Given the description of an element on the screen output the (x, y) to click on. 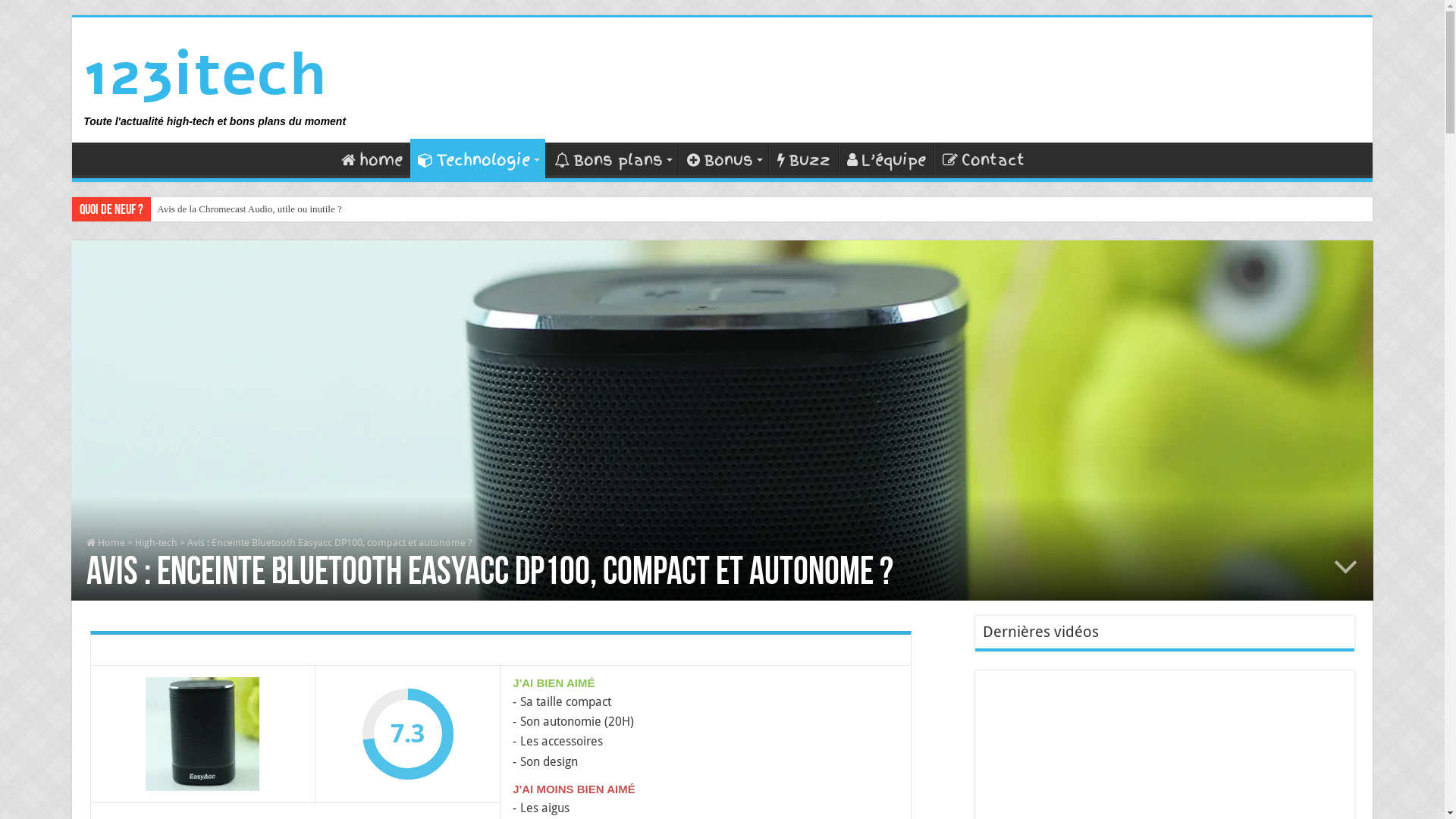
Buzz Element type: text (802, 158)
home Element type: text (371, 158)
Avis de la Chromecast Audio, utile ou inutile ? Element type: text (264, 209)
Technologie Element type: text (477, 158)
123itech Element type: text (204, 73)
Bonus Element type: text (723, 158)
Bons plans Element type: text (611, 158)
Contact Element type: text (983, 158)
High-tech Element type: text (155, 542)
Home Element type: text (105, 542)
